Given the description of an element on the screen output the (x, y) to click on. 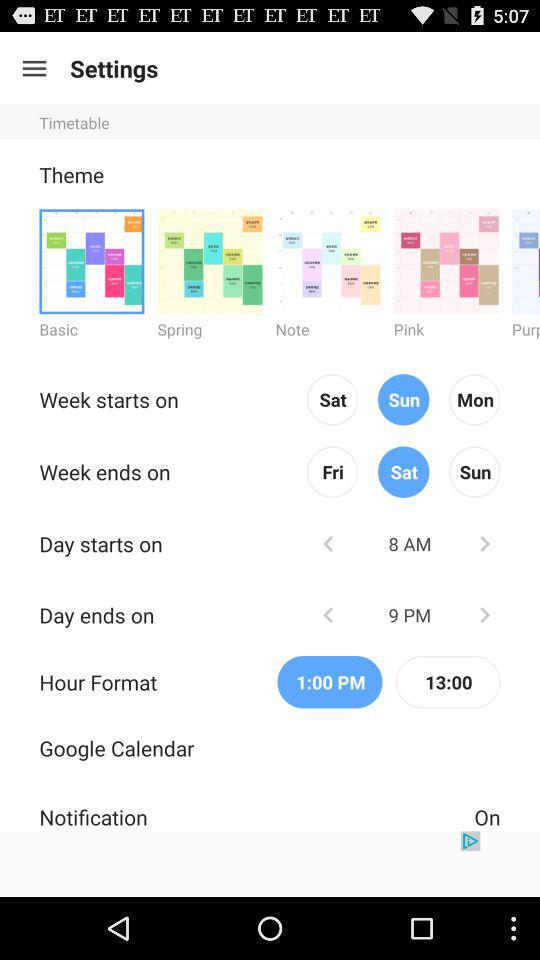
increase hour (484, 543)
